Given the description of an element on the screen output the (x, y) to click on. 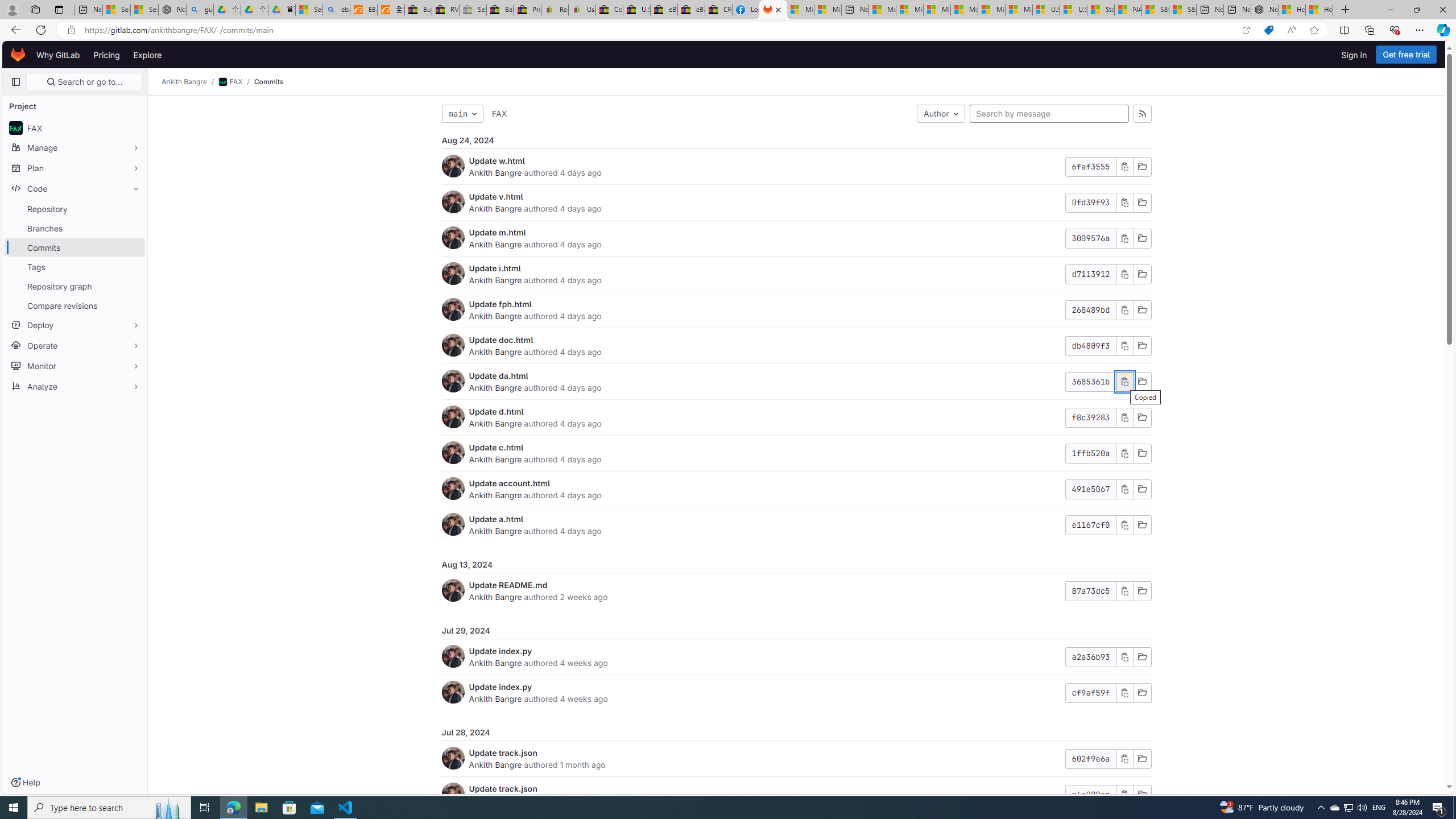
Plan (74, 167)
Code (74, 188)
Primary navigation sidebar (15, 81)
Update fph.html (499, 303)
Update README.md (507, 584)
Update da.htmlAnkith Bangre authored 4 days ago3685361b (796, 381)
Update a.html (496, 519)
Copy commit SHA (1124, 794)
Repository graph (74, 285)
guge yunpan - Search (200, 9)
Log into Facebook (746, 9)
Open in app (1245, 29)
U.S. State Privacy Disclosures - eBay Inc. (636, 9)
